Given the description of an element on the screen output the (x, y) to click on. 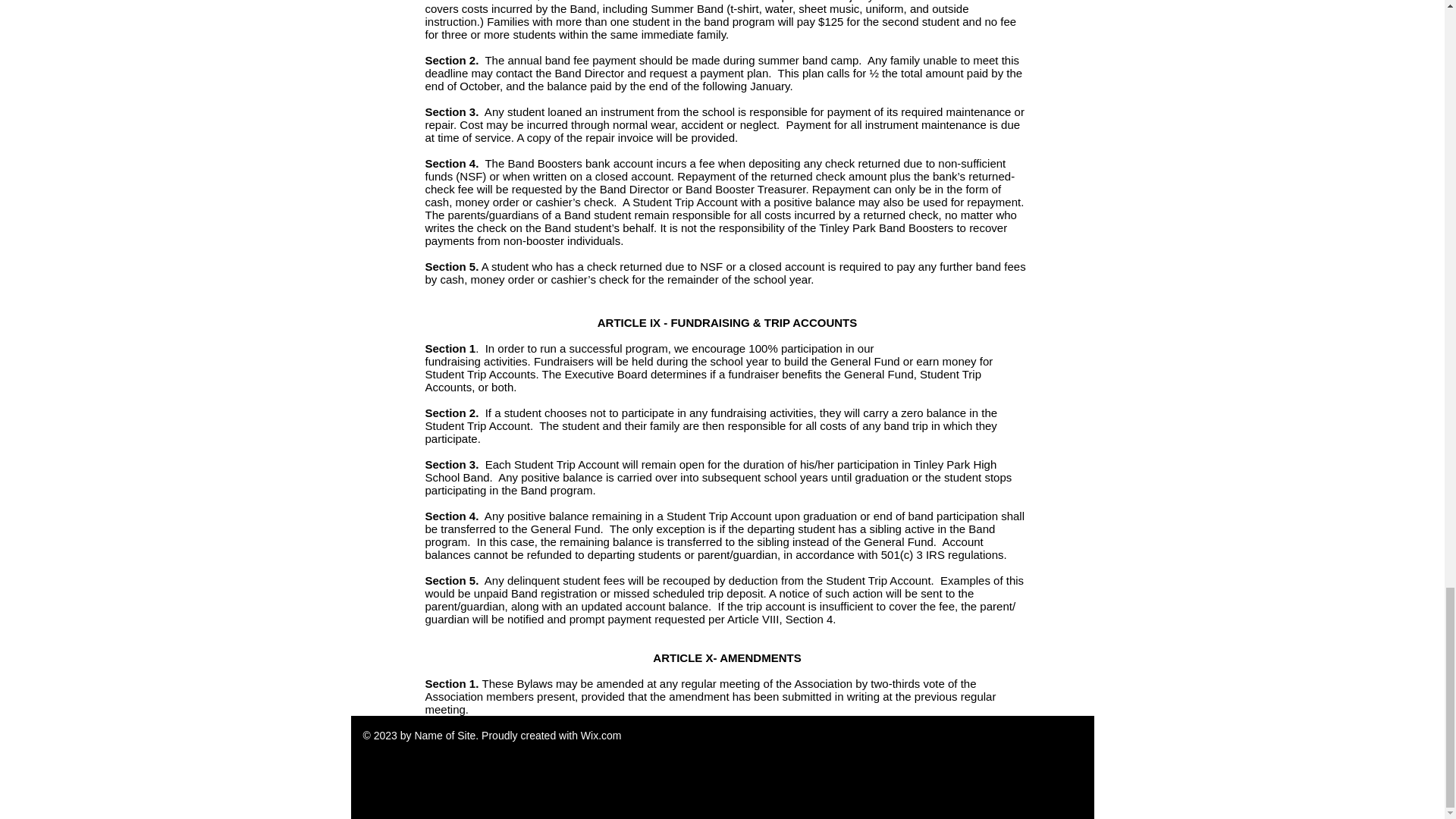
Wix.com (600, 735)
